Given the description of an element on the screen output the (x, y) to click on. 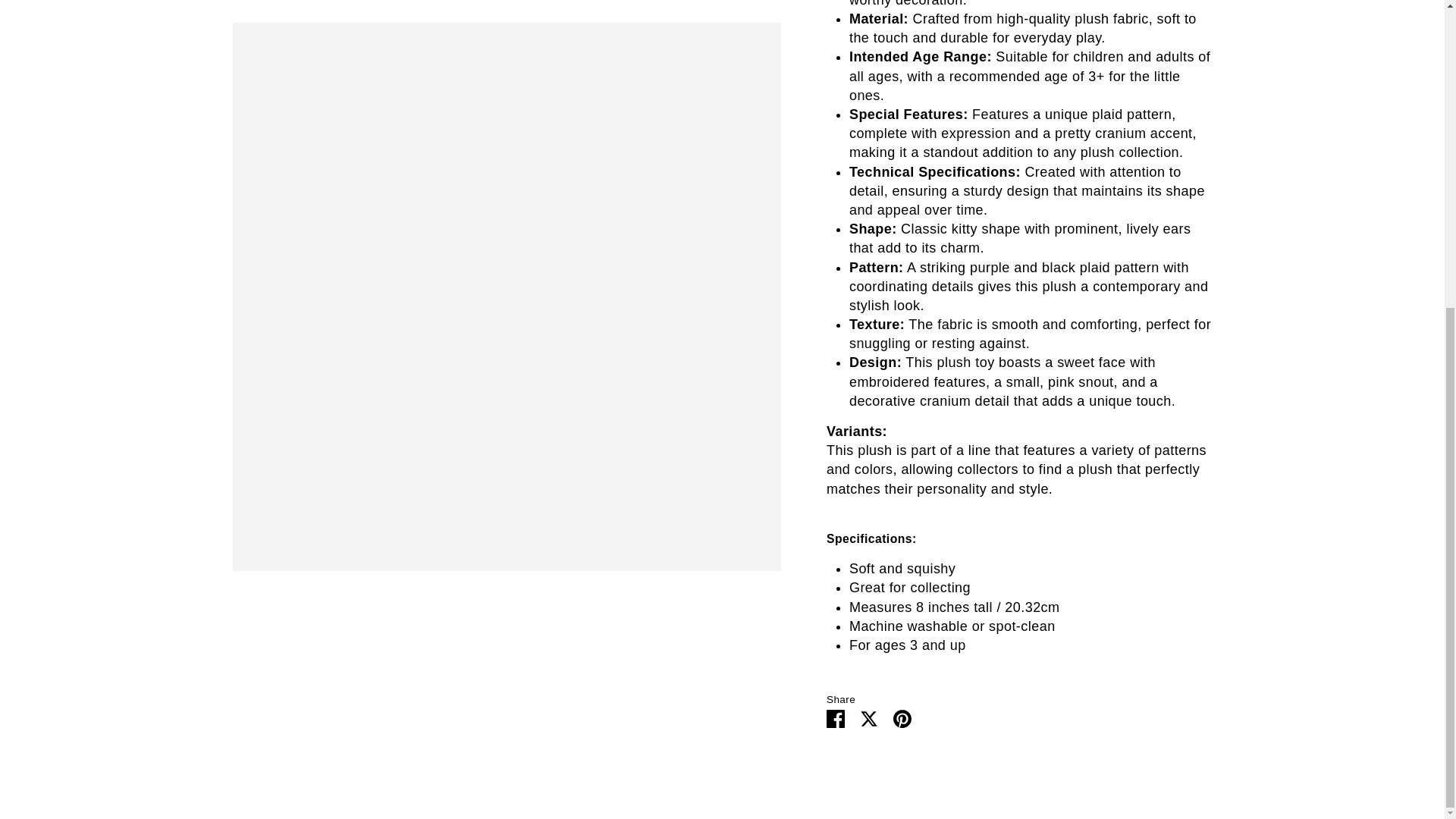
Visa (1293, 285)
Share on Facebook (835, 717)
Diners Club (1142, 285)
Mastercard (1233, 285)
PayPal (1263, 285)
Discover (1173, 285)
American Express (1111, 285)
JCB (1203, 285)
